Given the description of an element on the screen output the (x, y) to click on. 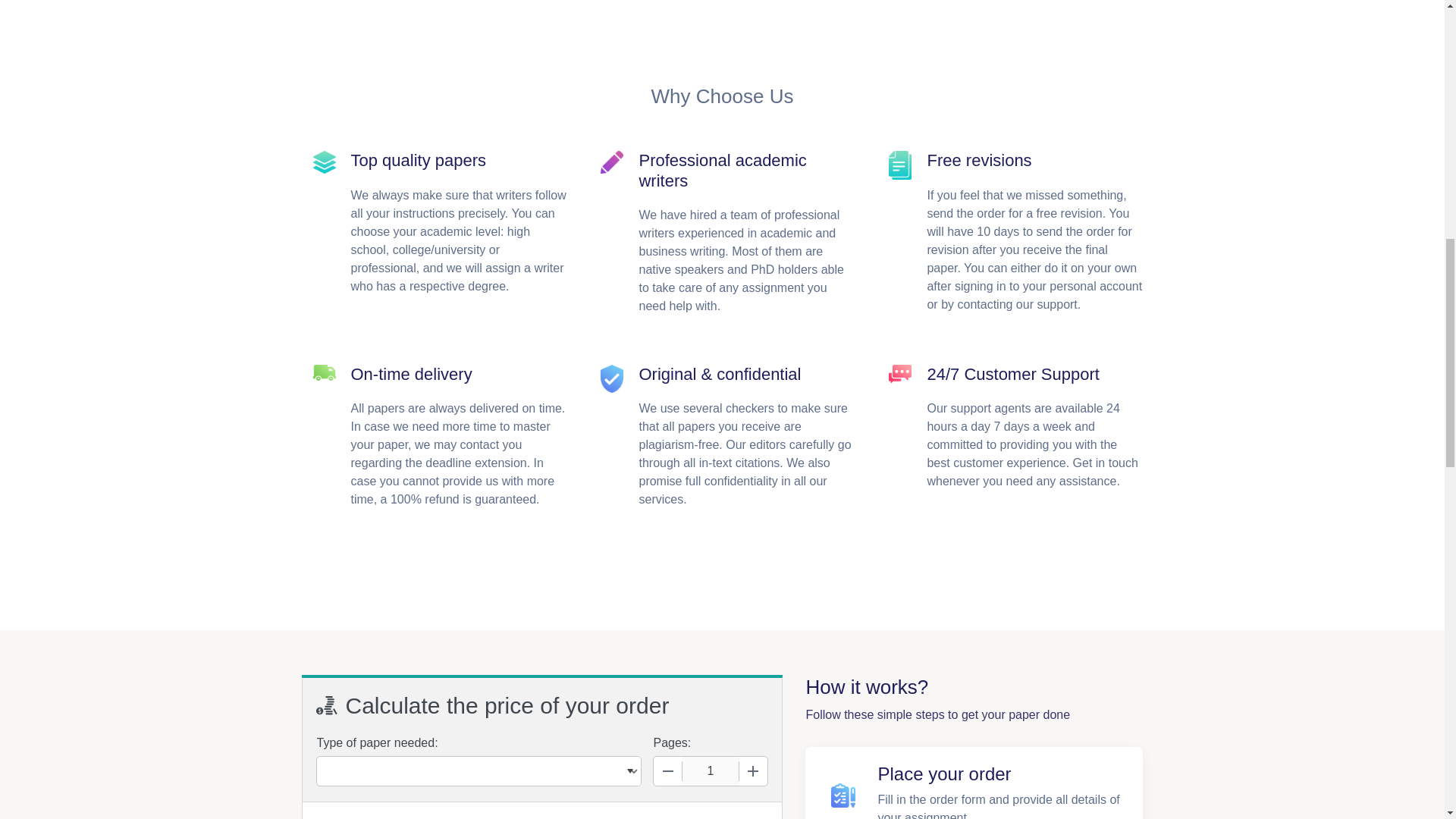
Decrease (667, 770)
1 (710, 770)
Increase (752, 770)
